Given the description of an element on the screen output the (x, y) to click on. 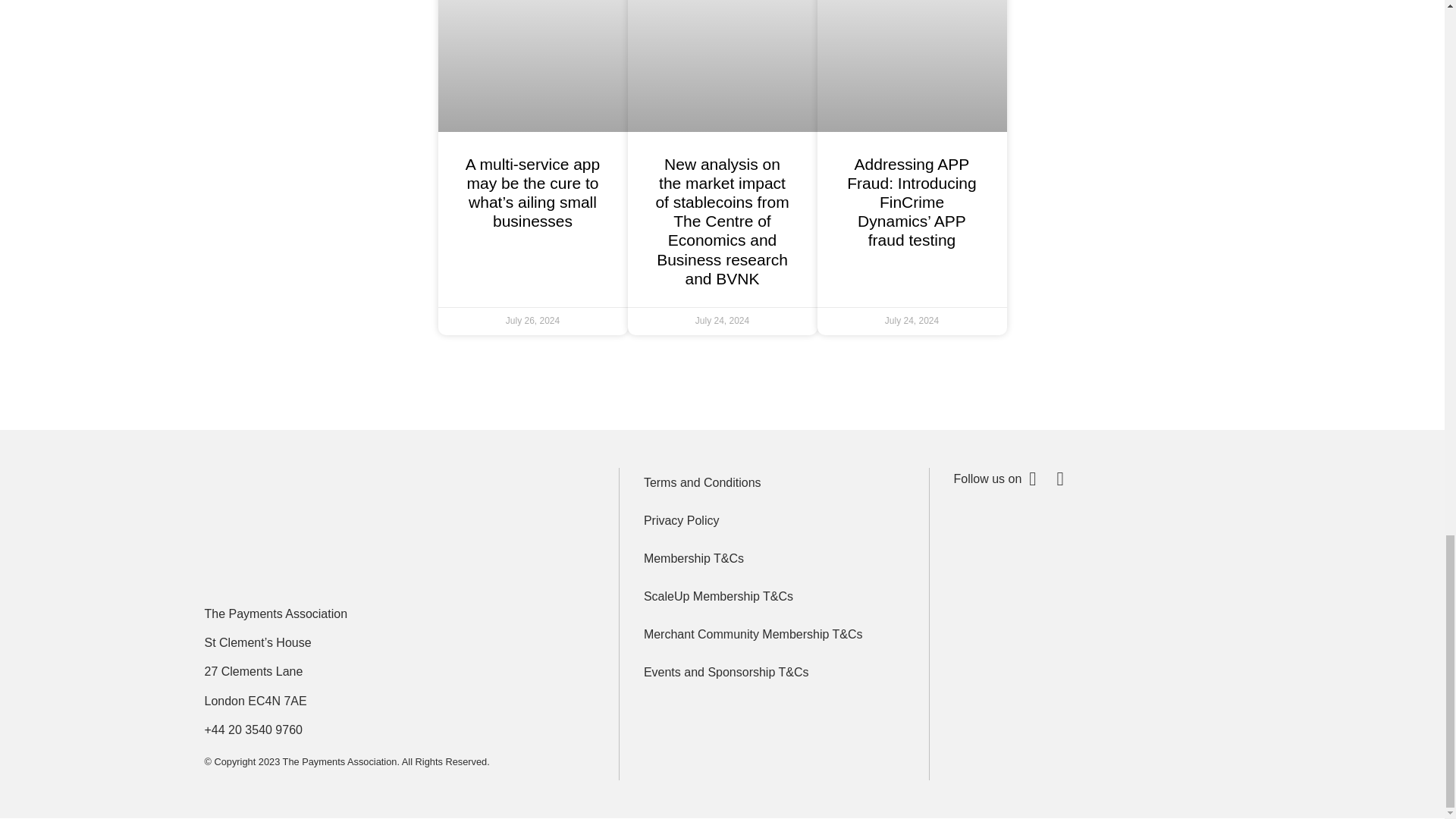
Terms and Conditions (773, 482)
Privacy Policy (773, 521)
